Given the description of an element on the screen output the (x, y) to click on. 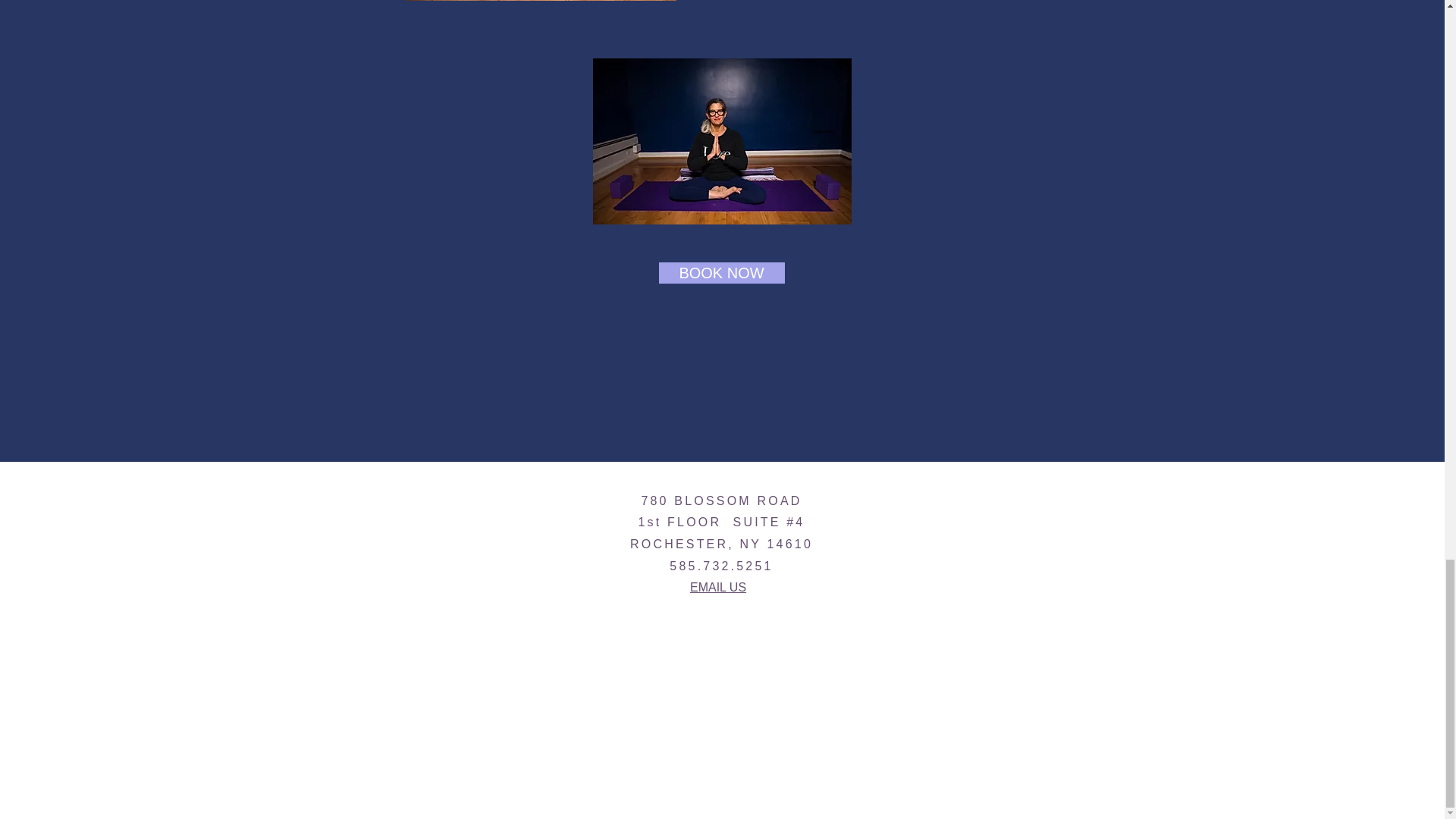
780 BLOSSOM ROAD (721, 500)
ROCHESTER, NY 14610 (721, 543)
BOOK NOW (721, 272)
EMAIL US (717, 586)
